Given the description of an element on the screen output the (x, y) to click on. 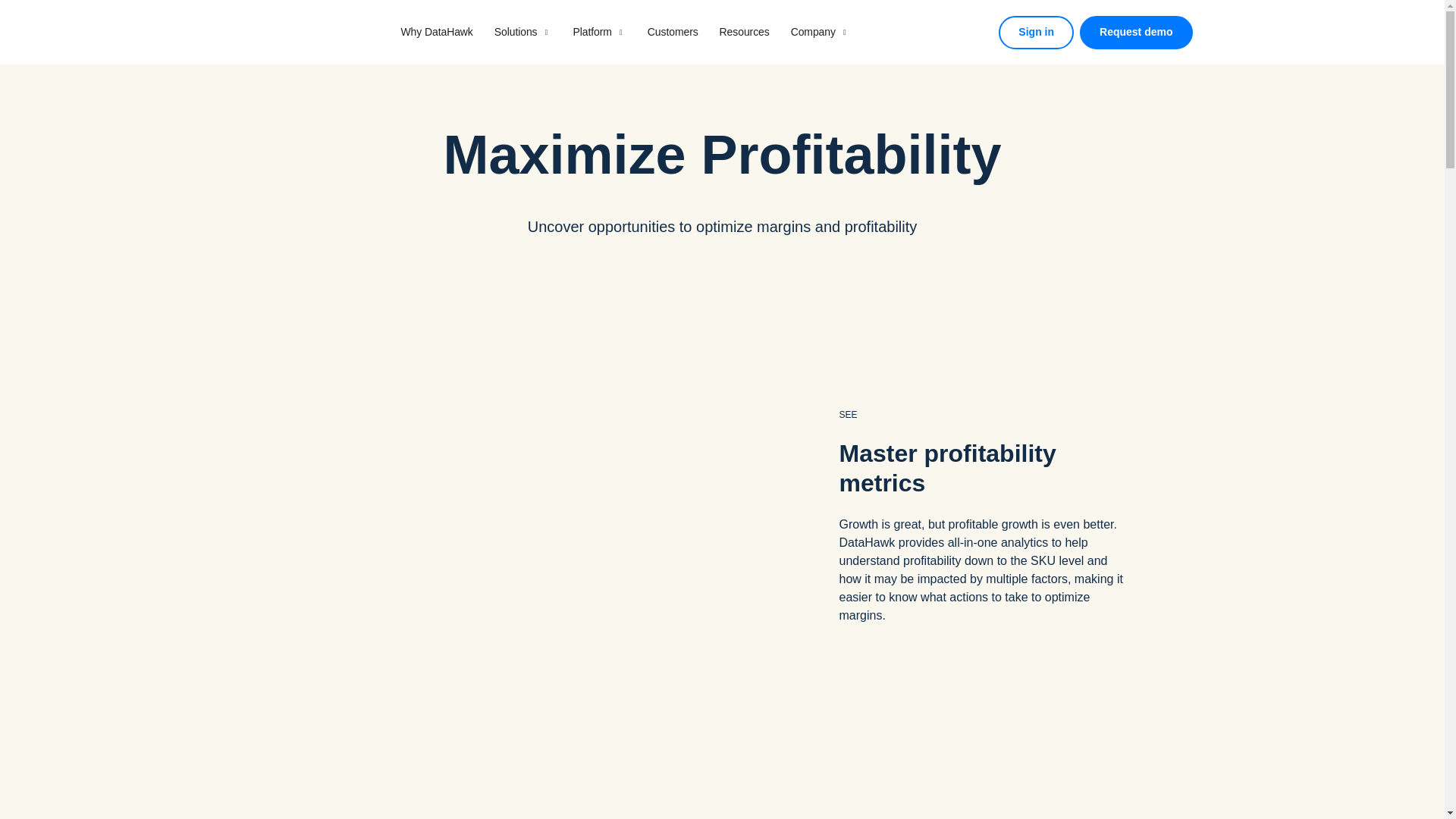
Resources (744, 32)
Customers (672, 32)
Why DataHawk (435, 32)
